Given the description of an element on the screen output the (x, y) to click on. 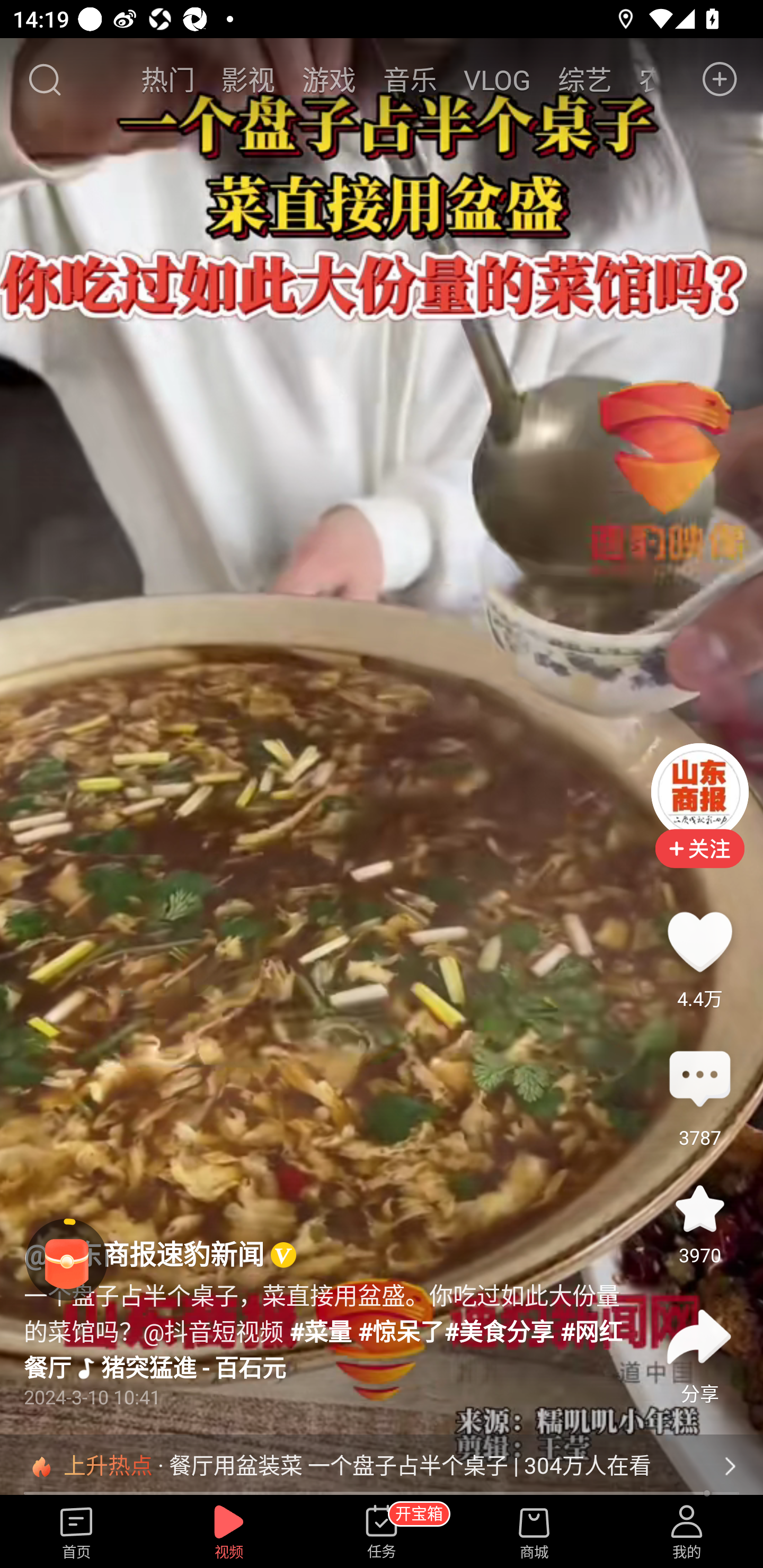
热门 (167, 79)
影视 (247, 79)
游戏 (329, 79)
音乐 (410, 79)
VLOG (497, 79)
综艺 (584, 79)
搜索 (44, 79)
发布 (720, 79)
头像 (699, 791)
点赞44753 4.4万 (699, 941)
评论3787 评论 3787 (699, 1080)
收藏 3970 (699, 1207)
阅读赚金币 (66, 1259)
分享 (699, 1336)
上升热点  · 餐厅用盆装菜 一个盘子占半个桌子  | 304万人在看 (381, 1465)
首页 (76, 1532)
视频 (228, 1532)
任务 开宝箱 (381, 1532)
商城 (533, 1532)
我的 (686, 1532)
